Given the description of an element on the screen output the (x, y) to click on. 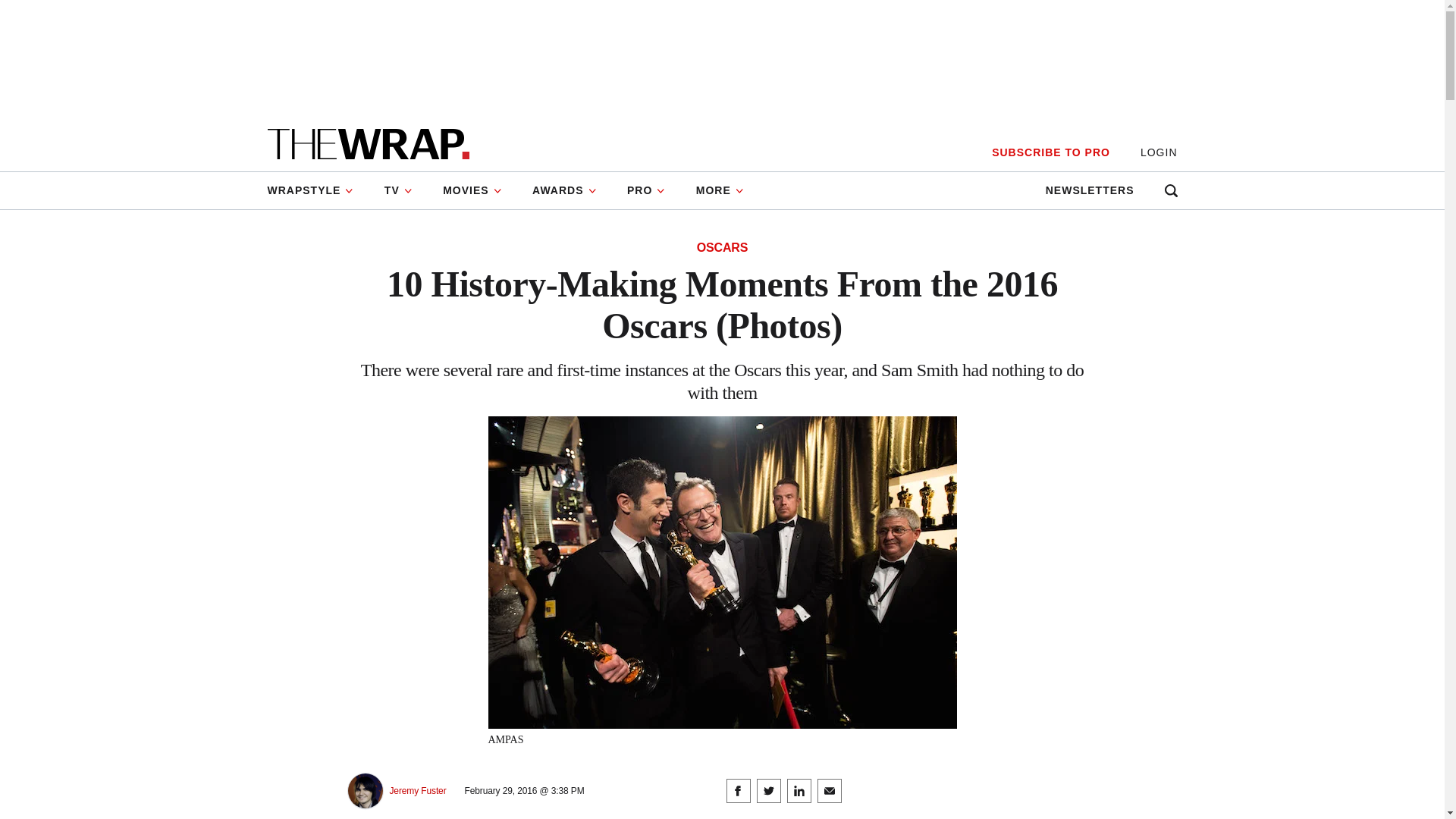
MOVIES (472, 190)
MORE (719, 190)
PRO (646, 190)
LOGIN (1158, 152)
Posts by Jeremy Fuster (418, 790)
TV (398, 190)
WRAPSTYLE (317, 190)
AWARDS (563, 190)
SUBSCRIBE TO PRO (1050, 152)
